Given the description of an element on the screen output the (x, y) to click on. 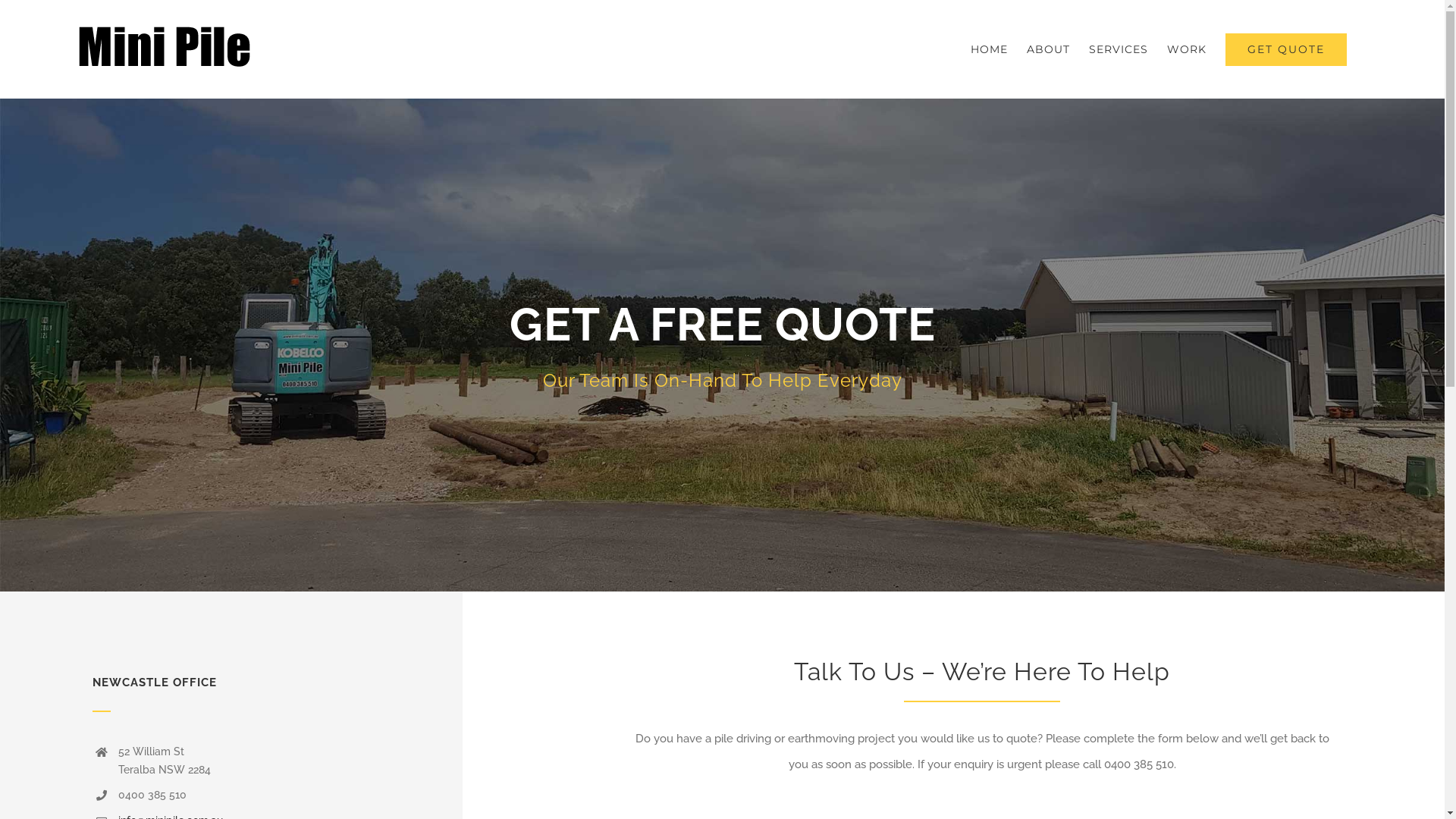
SERVICES Element type: text (1118, 49)
HOME Element type: text (988, 49)
GET QUOTE Element type: text (1285, 49)
WORK Element type: text (1186, 49)
ABOUT Element type: text (1048, 49)
